Given the description of an element on the screen output the (x, y) to click on. 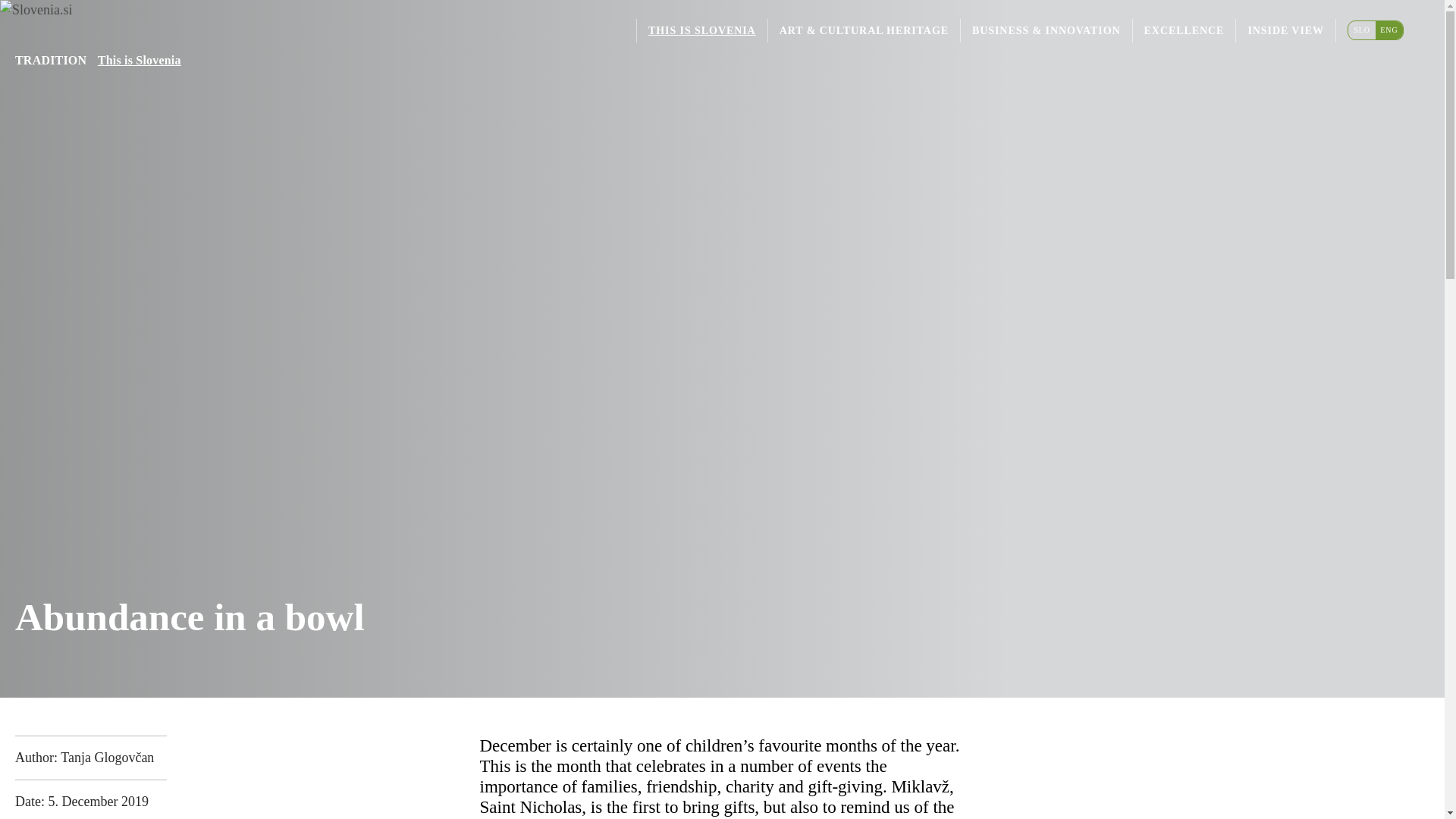
THIS IS SLOVENIA (702, 30)
TRADITION (49, 60)
SLO (1361, 30)
EXCELLENCE (1184, 30)
INSIDE VIEW (1285, 30)
ENG (1389, 30)
This is Slovenia (138, 60)
